Given the description of an element on the screen output the (x, y) to click on. 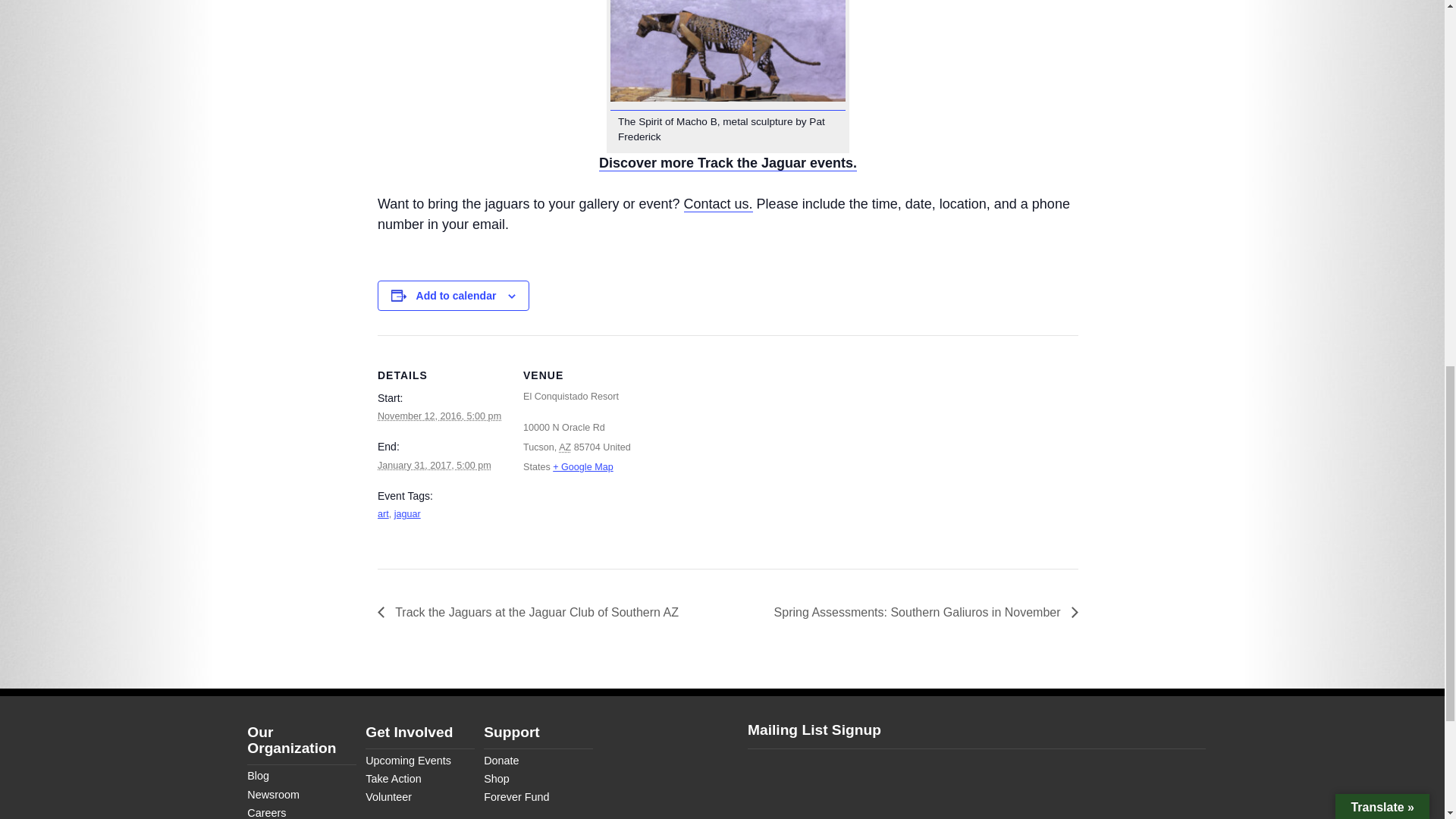
2016-11-12 (438, 416)
Click to view a Google Map (582, 466)
Arizona (564, 447)
2017-01-31 (434, 465)
